Given the description of an element on the screen output the (x, y) to click on. 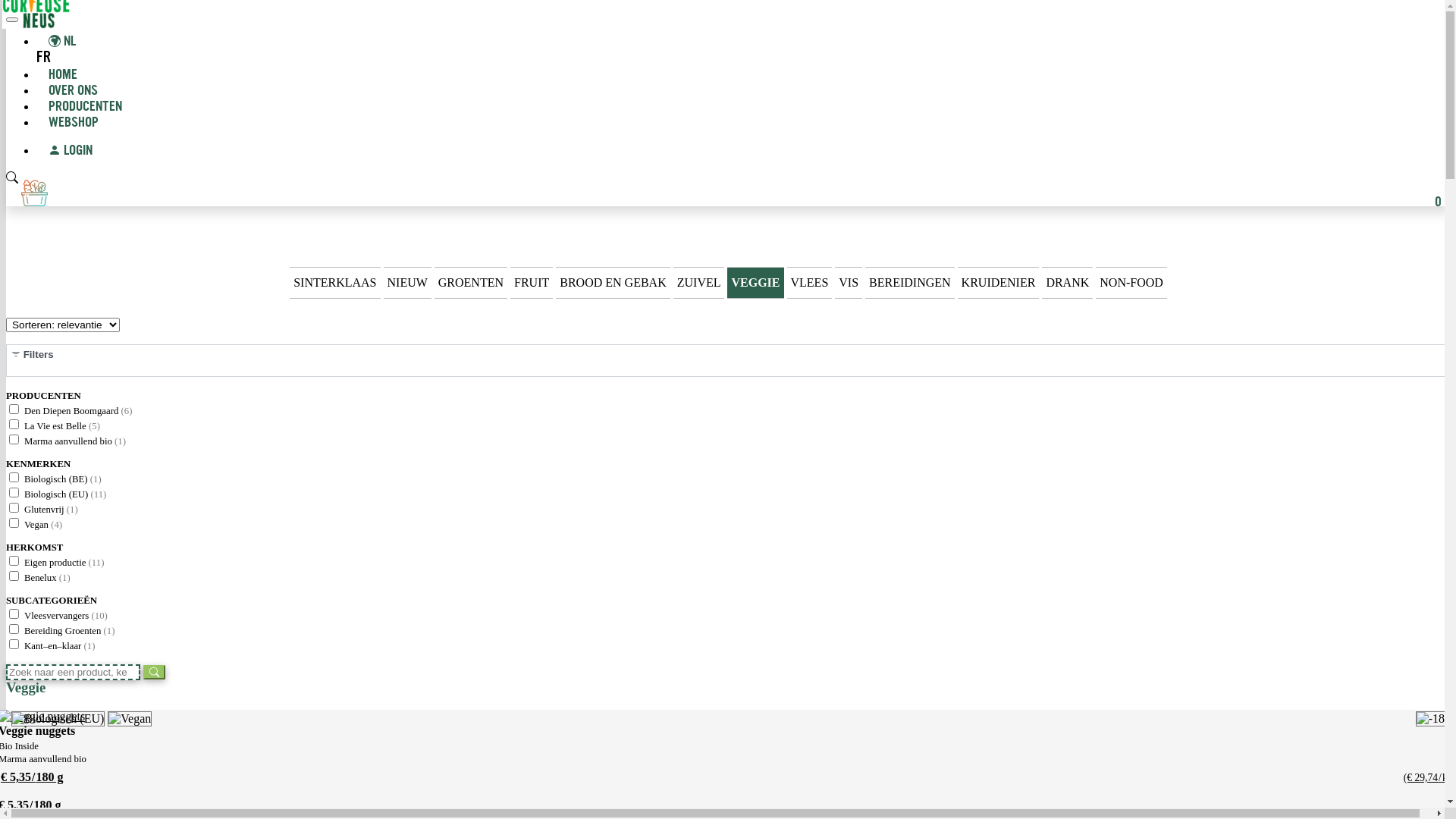
WEBSHOP Element type: text (67, 123)
VIS Element type: text (848, 282)
FRUIT Element type: text (531, 282)
KRUIDENIER Element type: text (998, 282)
OVER ONS Element type: text (72, 91)
NIEUW Element type: text (407, 282)
DRANK Element type: text (1066, 282)
VEGGIE Element type: text (755, 282)
BEREIDINGEN Element type: text (909, 282)
NL Element type: text (61, 42)
ZUIVEL Element type: text (698, 282)
Diepvries Element type: hover (1430, 718)
FR Element type: text (43, 58)
GROENTEN Element type: text (470, 282)
LOGIN Element type: text (64, 151)
NON-FOOD Element type: text (1131, 282)
SINTERKLAAS Element type: text (334, 282)
BROOD EN GEBAK Element type: text (612, 282)
Vegan Element type: hover (129, 718)
VLEES Element type: text (809, 282)
HOME Element type: text (62, 75)
Filters Element type: text (728, 360)
PRODUCENTEN Element type: text (85, 107)
Winkelmand Element type: hover (34, 192)
Biologisch (EU) Element type: hover (57, 718)
